Given the description of an element on the screen output the (x, y) to click on. 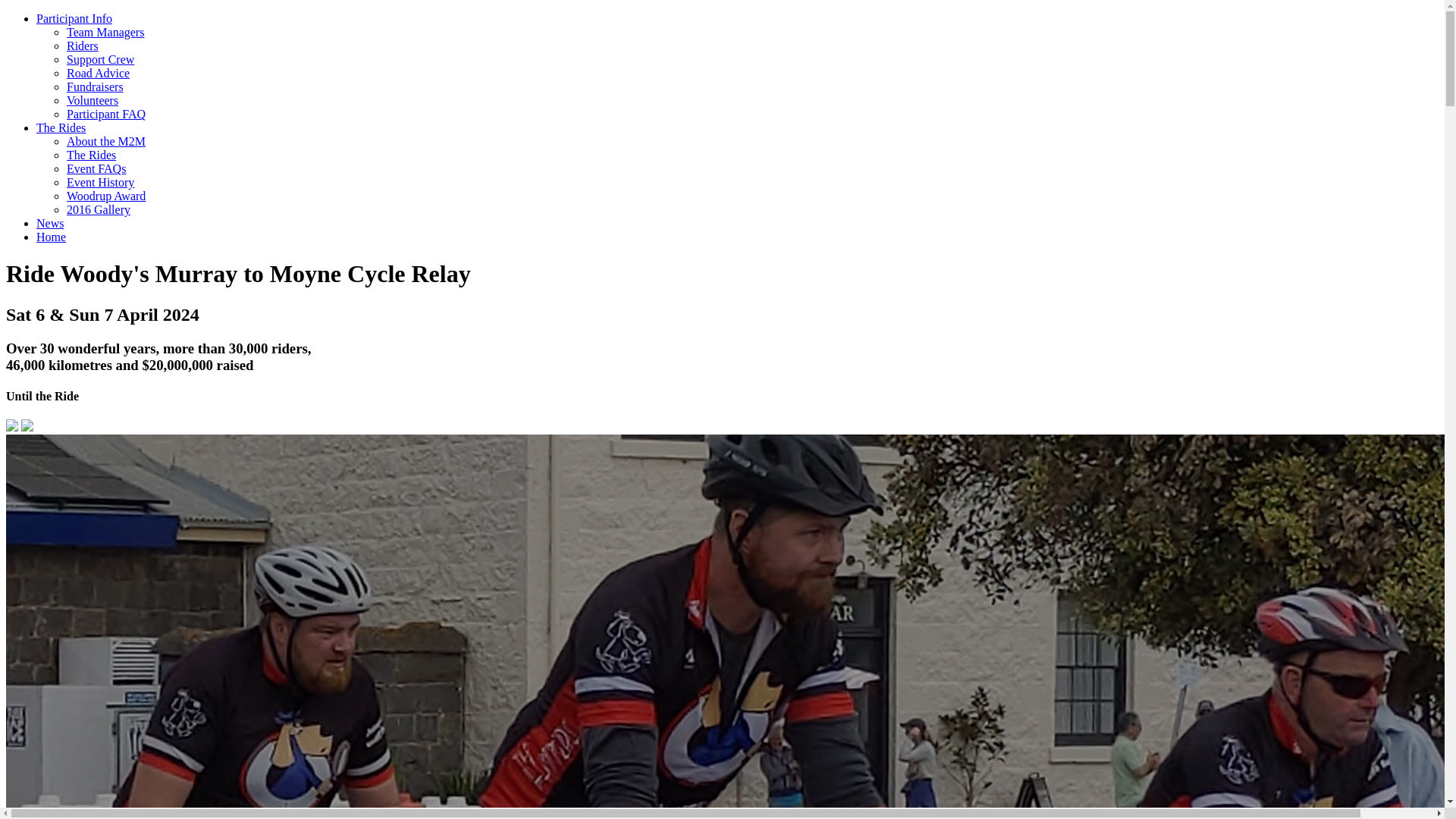
Team Managers Element type: text (105, 31)
Participant Info Element type: text (74, 18)
The Rides Element type: text (91, 154)
About the M2M Element type: text (105, 140)
2016 Gallery Element type: text (98, 209)
The Rides Element type: text (60, 127)
Event History Element type: text (100, 181)
Riders Element type: text (82, 45)
Fundraisers Element type: text (94, 86)
Event FAQs Element type: text (95, 168)
Road Advice Element type: text (97, 72)
Home Element type: text (50, 236)
Woodrup Award Element type: text (105, 195)
Volunteers Element type: text (92, 100)
Participant FAQ Element type: text (105, 113)
Support Crew Element type: text (100, 59)
News Element type: text (49, 222)
